Given the description of an element on the screen output the (x, y) to click on. 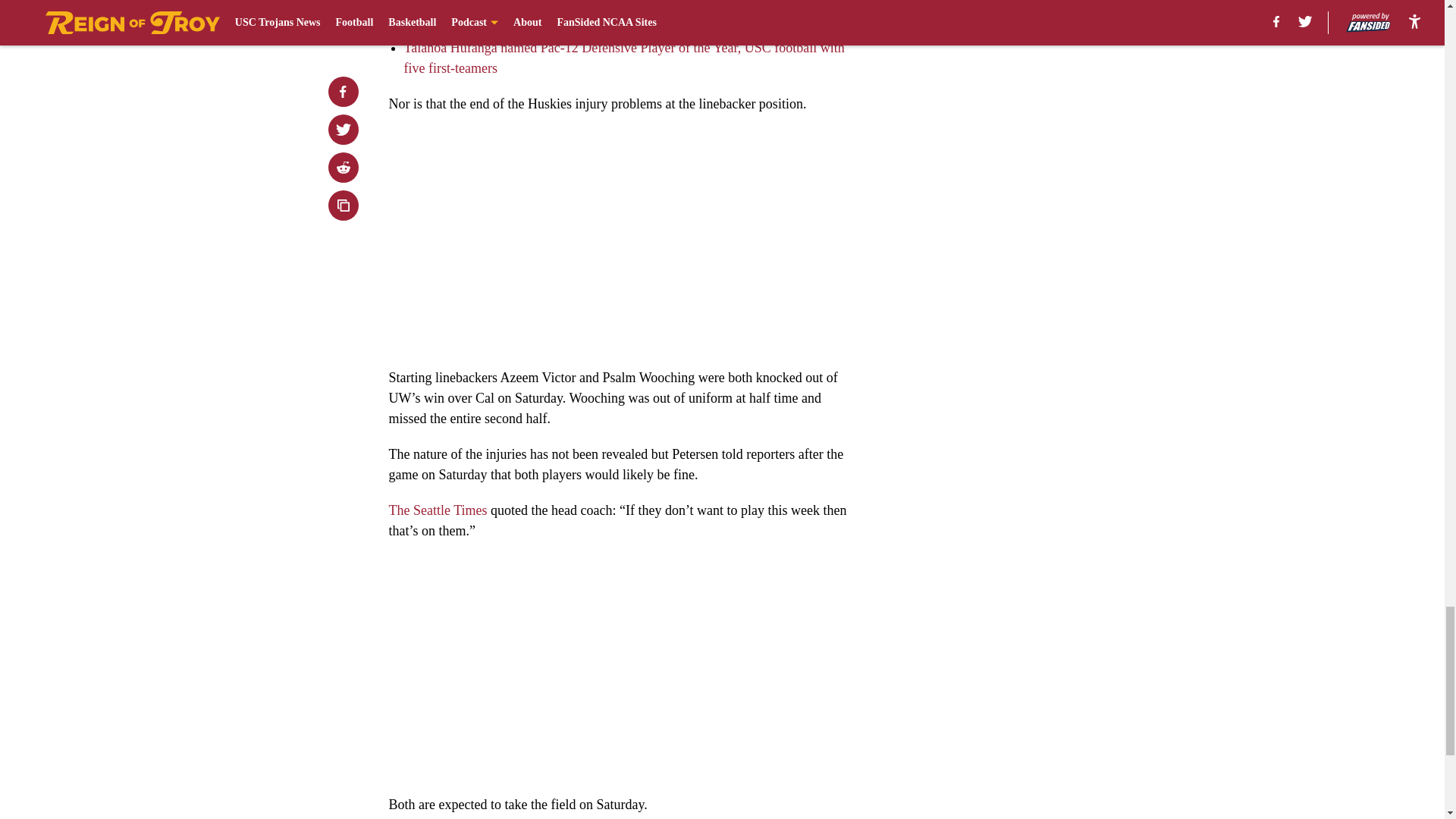
USC football adds Xavion Alford as transfer from Texas (557, 7)
The Seattle Times (437, 509)
